Given the description of an element on the screen output the (x, y) to click on. 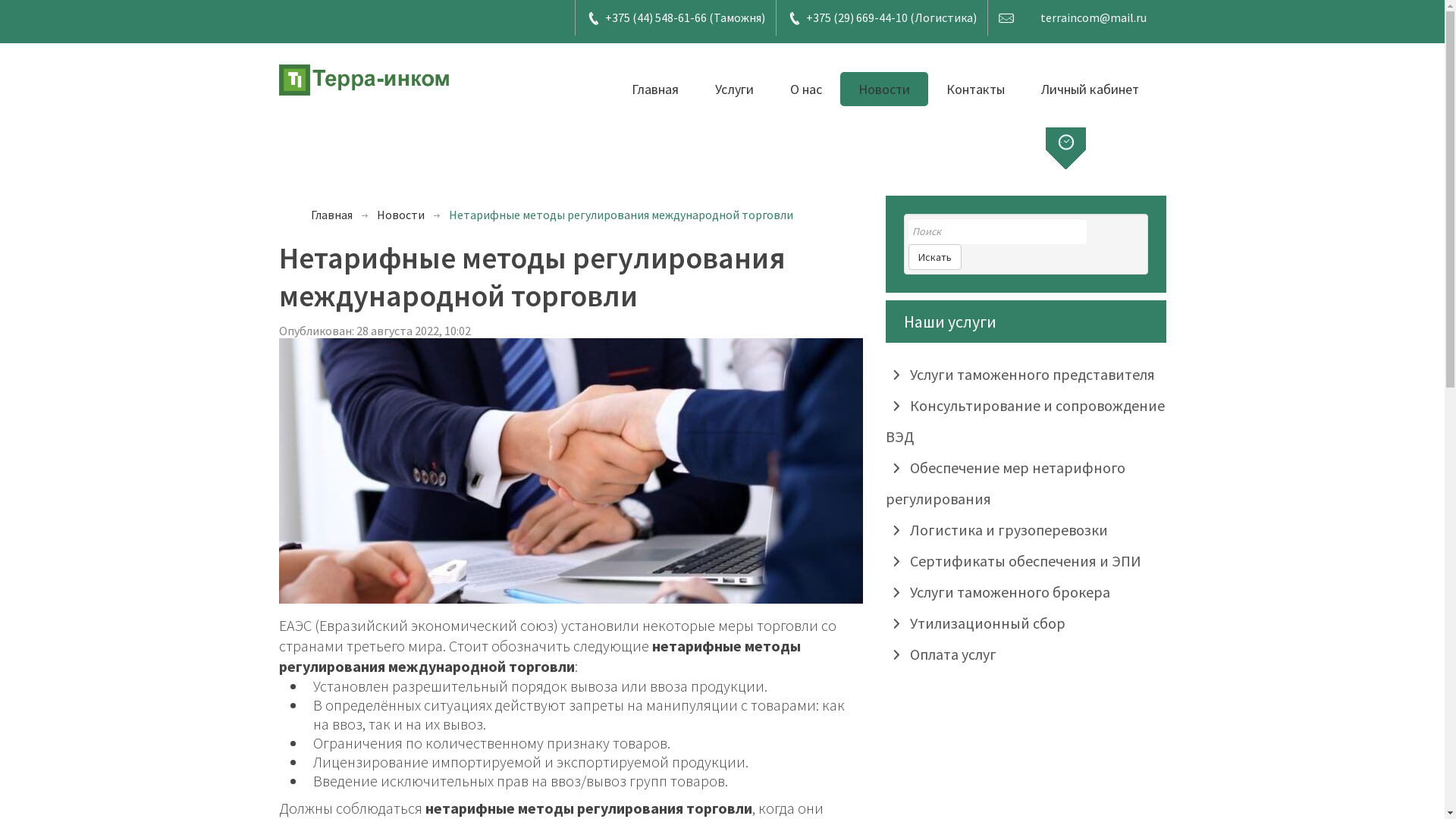
terraincom@mail.ru Element type: text (1093, 17)
